Given the description of an element on the screen output the (x, y) to click on. 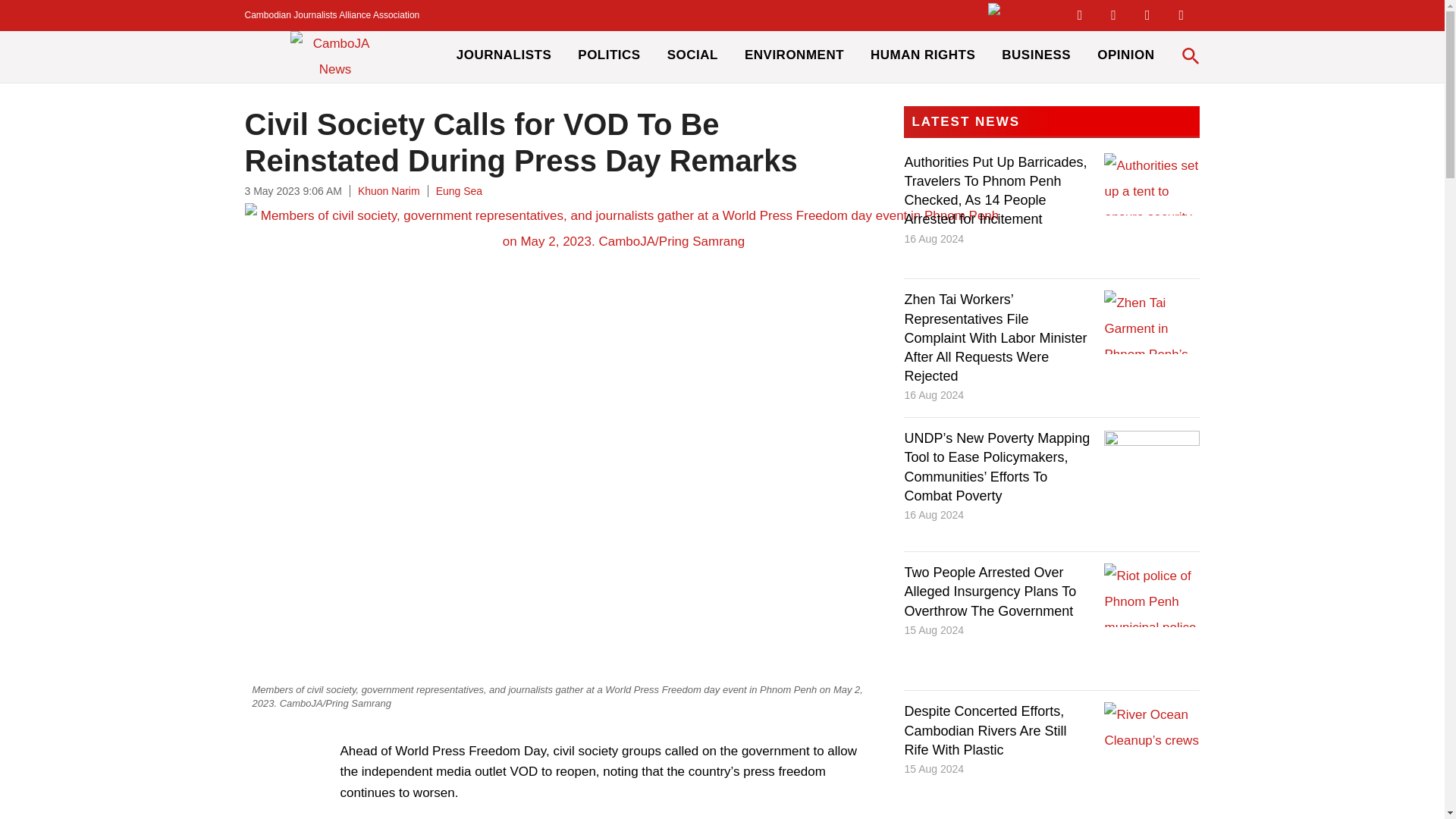
Khuon Narim (389, 190)
SOCIAL (691, 56)
ENVIRONMENT (794, 56)
OPINION (1125, 56)
BUSINESS (1035, 56)
JOURNALISTS (504, 56)
CamboJA News (334, 56)
POLITICS (609, 56)
HUMAN RIGHTS (922, 56)
